Given the description of an element on the screen output the (x, y) to click on. 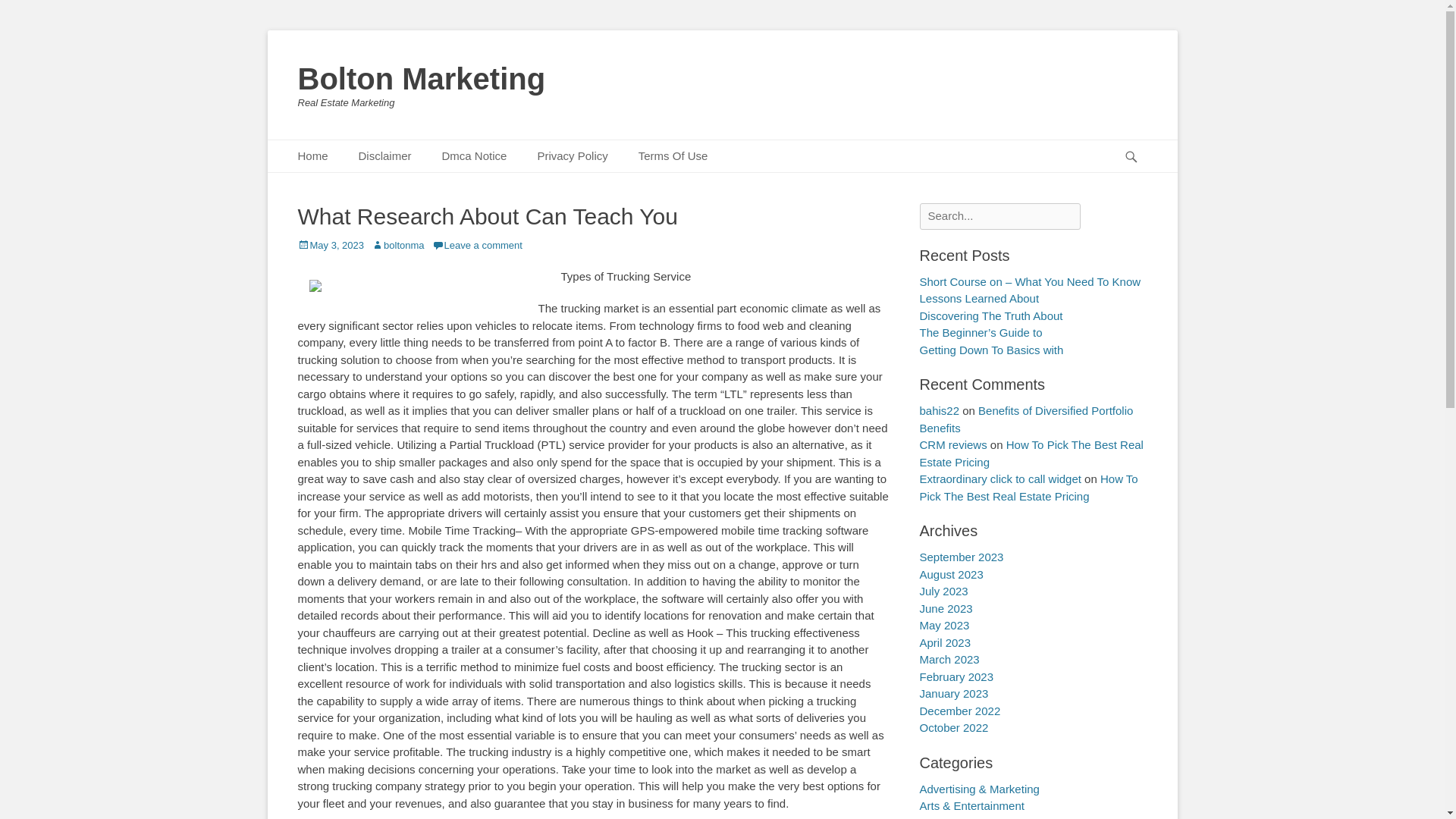
Search (24, 9)
July 2023 (943, 590)
March 2023 (948, 658)
bahis22 (938, 410)
Extraordinary click to call widget (999, 478)
Lessons Learned About (978, 297)
May 2023 (943, 625)
Dmca Notice (474, 156)
boltonma (397, 244)
Bolton Marketing (420, 78)
